Given the description of an element on the screen output the (x, y) to click on. 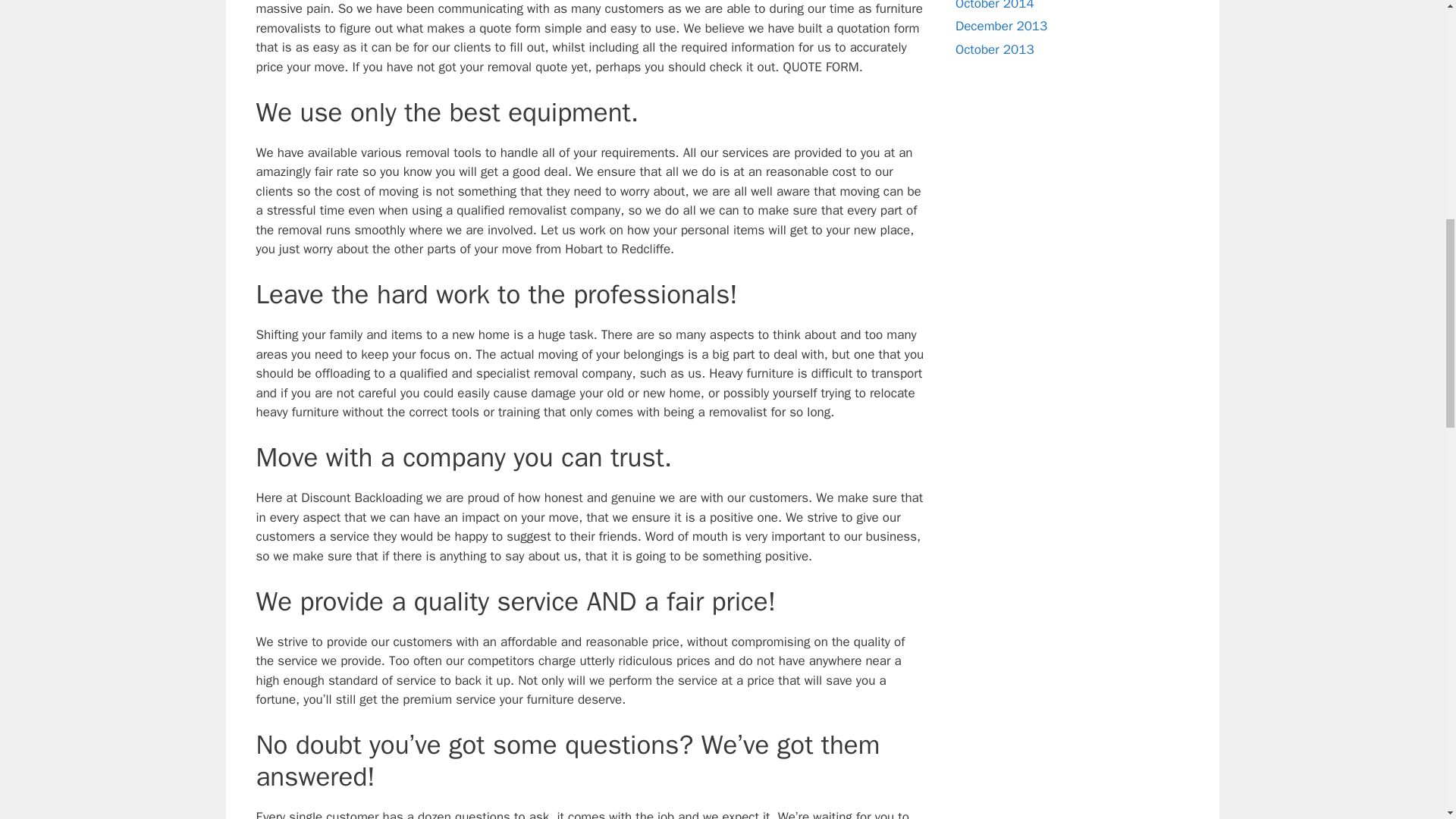
October 2013 (994, 48)
December 2013 (1000, 26)
October 2014 (994, 5)
